Given the description of an element on the screen output the (x, y) to click on. 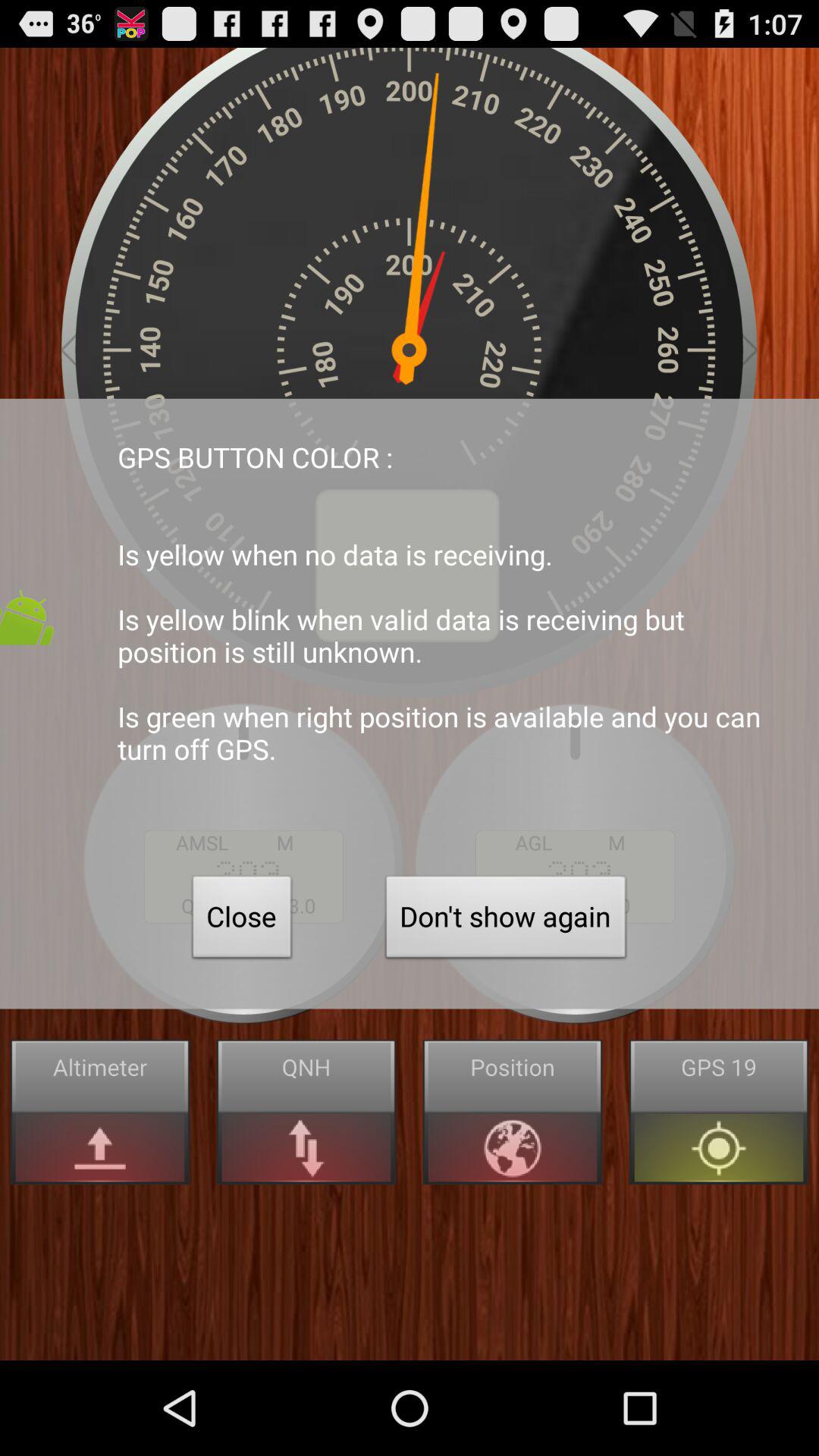
swipe until the close button (242, 921)
